Given the description of an element on the screen output the (x, y) to click on. 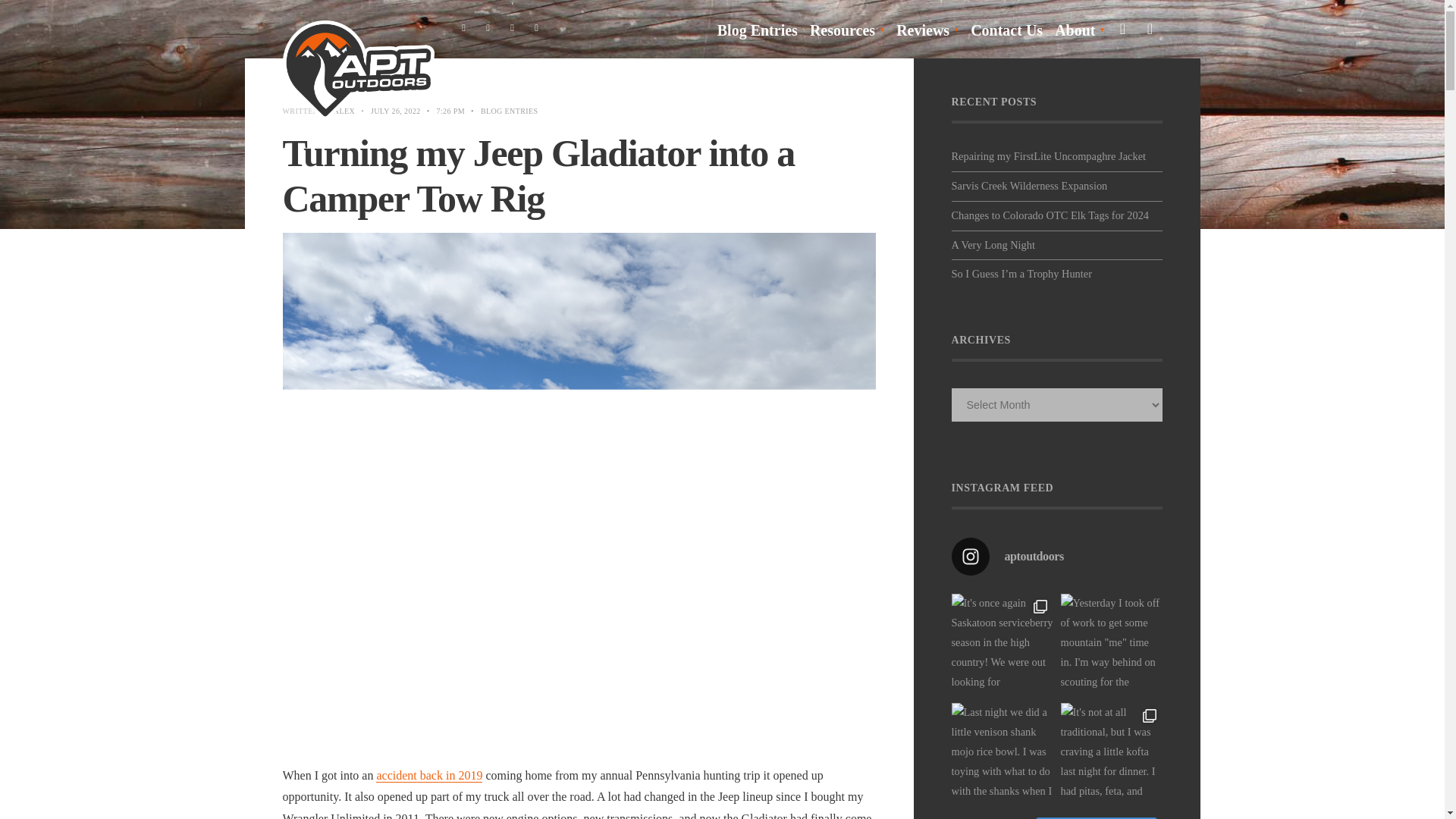
Blog Entries (757, 30)
accident back in 2019 (428, 775)
Instagram (512, 28)
Reviews (927, 30)
YouTube (536, 28)
Facebook (463, 28)
Resources (846, 30)
Twitter (488, 28)
About (1078, 30)
BLOG ENTRIES (509, 111)
